Given the description of an element on the screen output the (x, y) to click on. 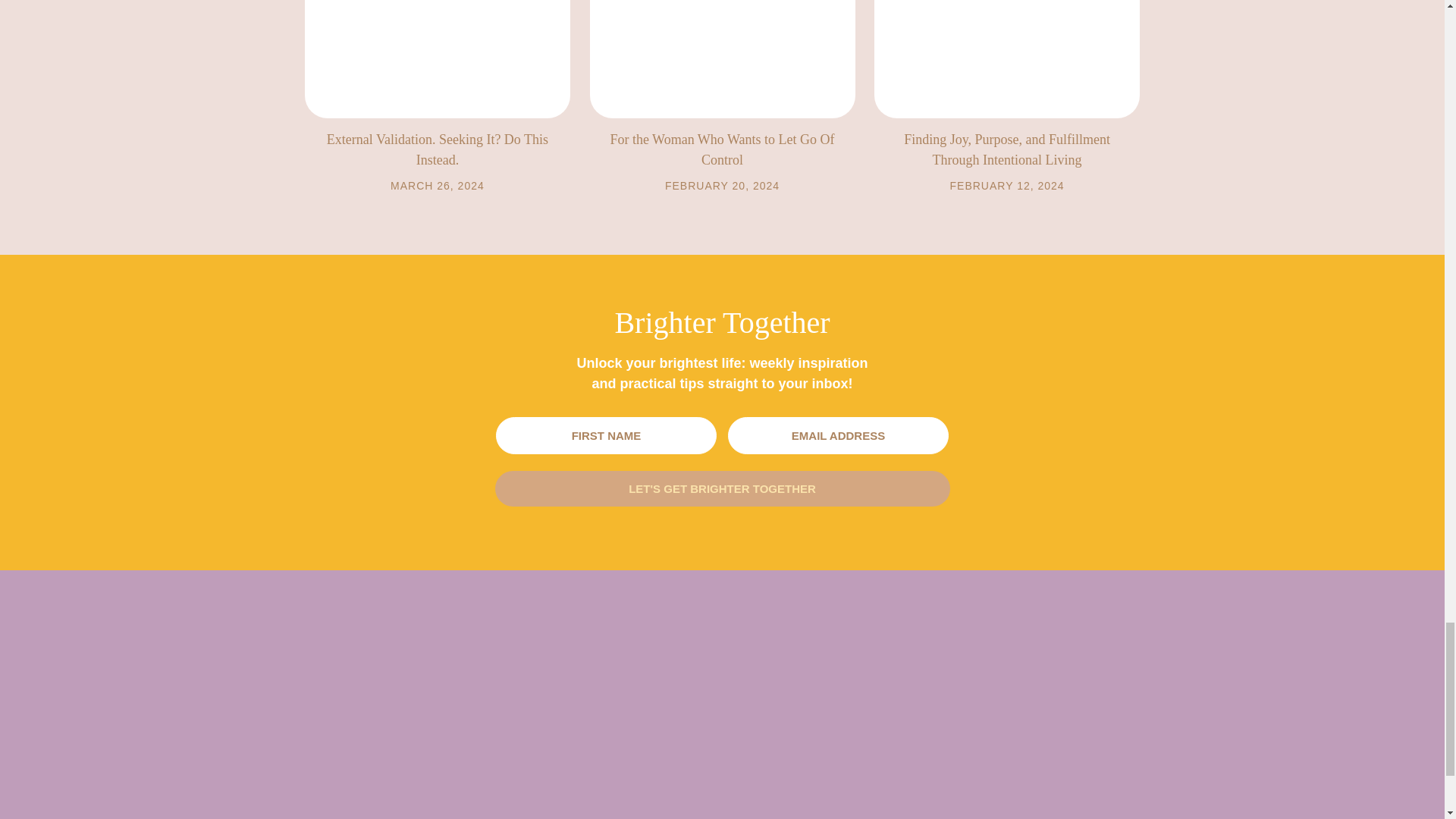
Let's Get Brighter Together (722, 488)
External Validation. Seeking It? Do This Instead. (437, 149)
For the Woman Who Wants to Let Go Of Control (722, 149)
